Given the description of an element on the screen output the (x, y) to click on. 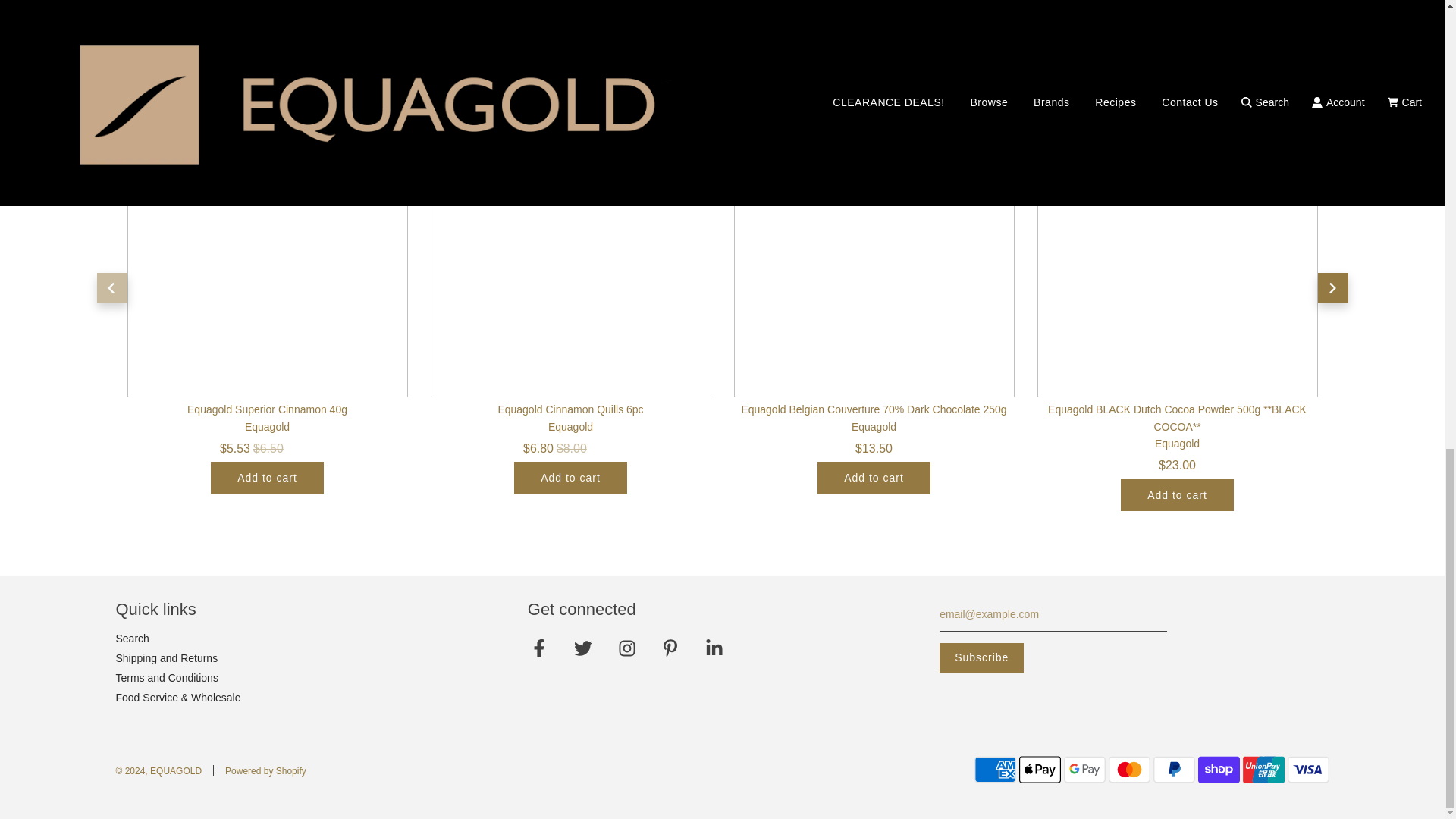
Equagold Superior Cinnamon 40g (267, 257)
Equagold Cinnamon Quills 6pc (570, 257)
Subscribe (981, 657)
